Given the description of an element on the screen output the (x, y) to click on. 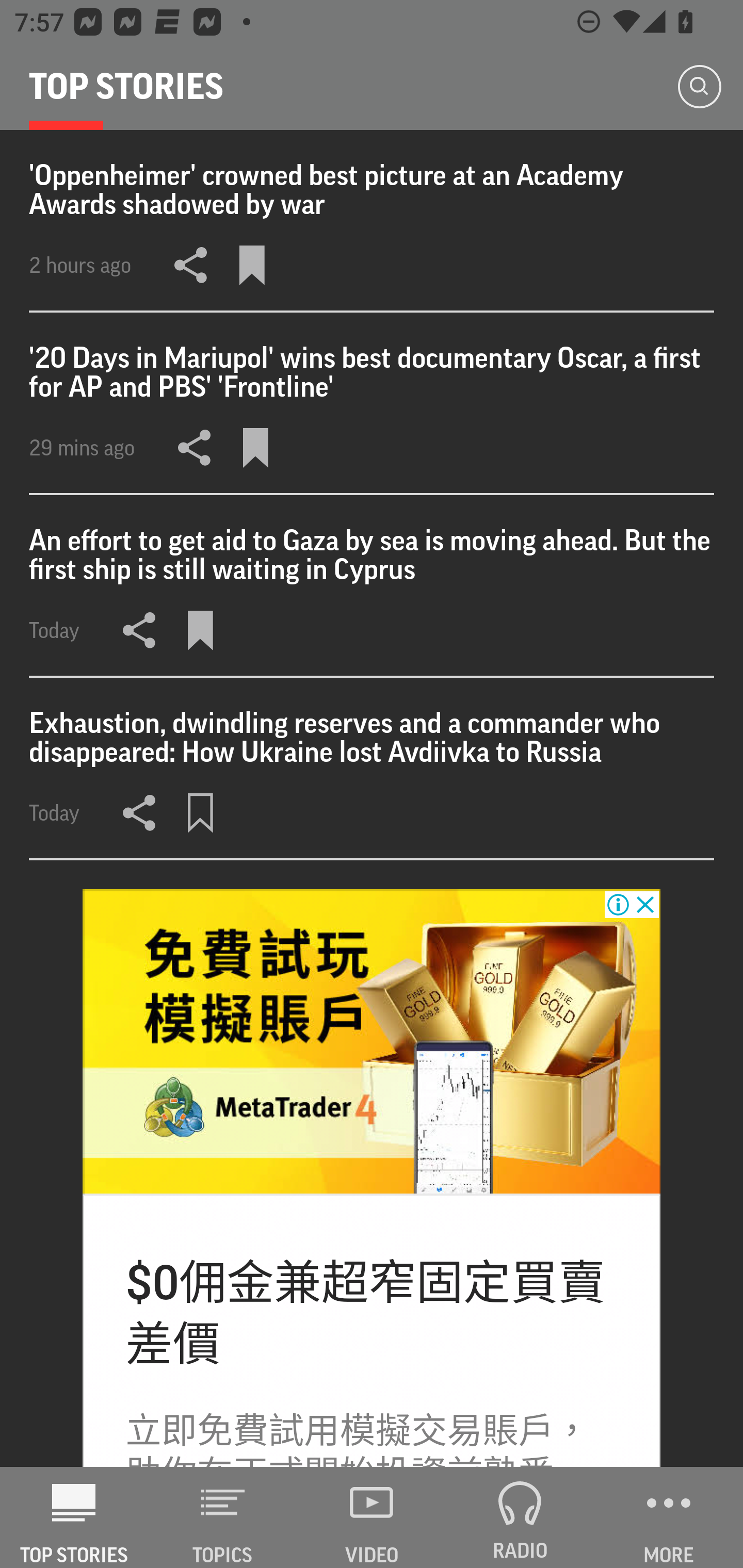
$0佣金兼超窄固定買賣 差價 $0佣金兼超窄固定買賣 差價 (365, 1313)
AP News TOP STORIES (74, 1517)
TOPICS (222, 1517)
VIDEO (371, 1517)
RADIO (519, 1517)
MORE (668, 1517)
